Given the description of an element on the screen output the (x, y) to click on. 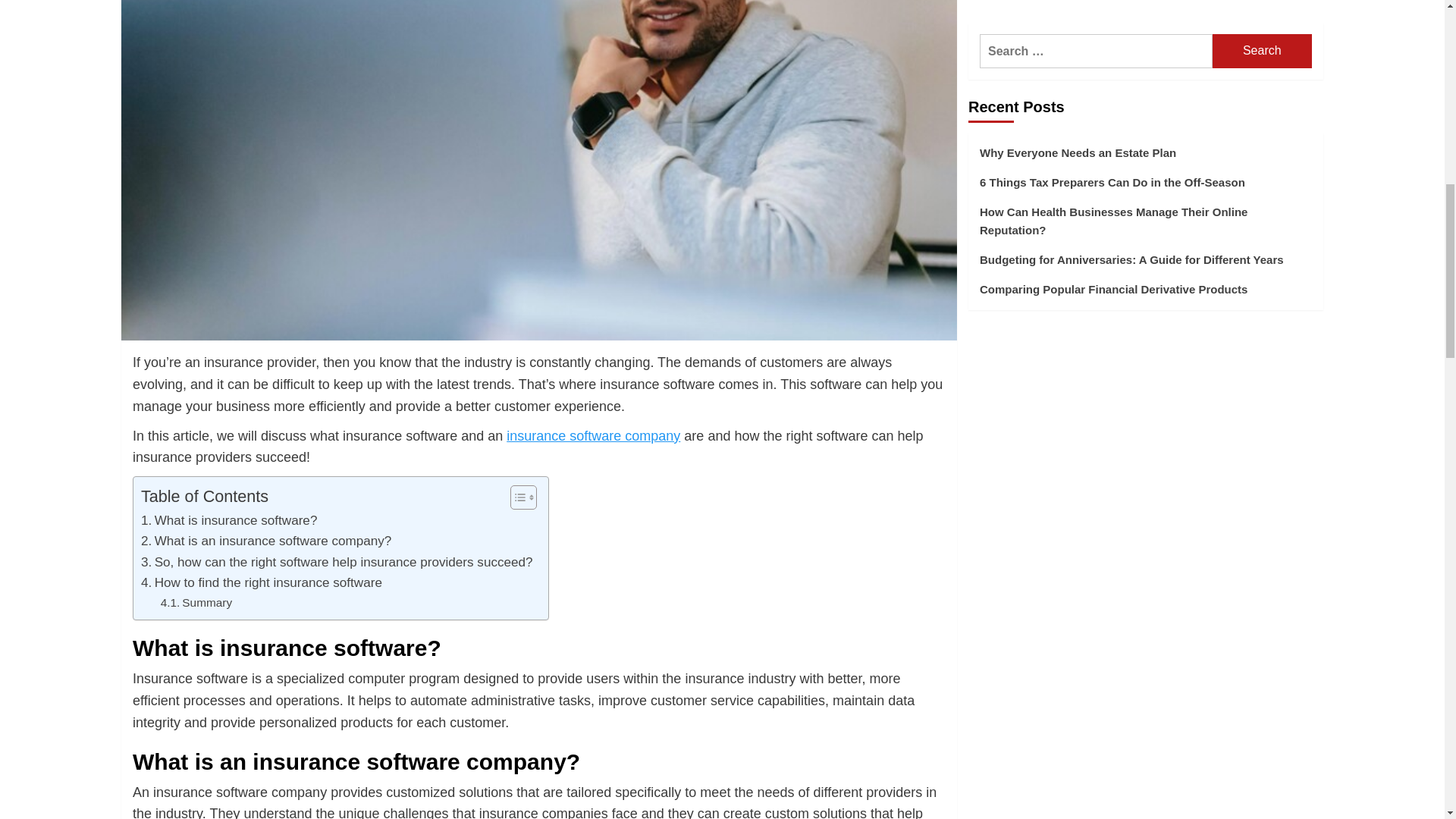
How to find the right insurance software (261, 582)
What is insurance software? (229, 520)
How to find the right insurance software (261, 582)
Summary (196, 601)
What is an insurance software company? (266, 540)
insurance software company (592, 435)
What is an insurance software company? (266, 540)
Summary (196, 601)
What is insurance software? (229, 520)
